Given the description of an element on the screen output the (x, y) to click on. 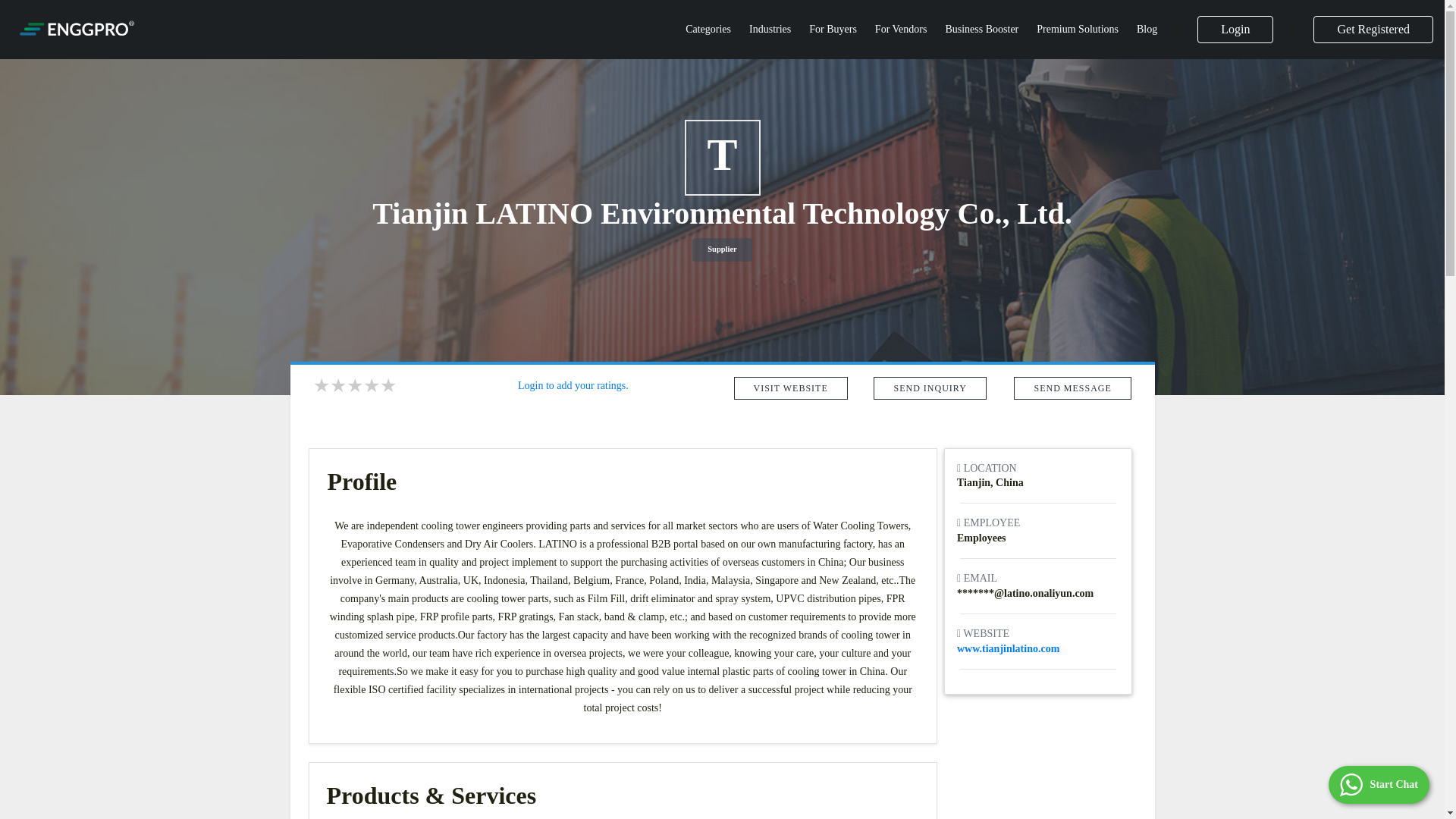
Industries (769, 29)
For Buyers (833, 29)
Premium Solutions (1077, 29)
WhatsApp (1378, 784)
Login (1234, 29)
Categories (707, 29)
SEND INQUIRY (929, 386)
SEND MESSAGE (1072, 386)
Get Registered (1372, 29)
Business Booster (980, 29)
